Given the description of an element on the screen output the (x, y) to click on. 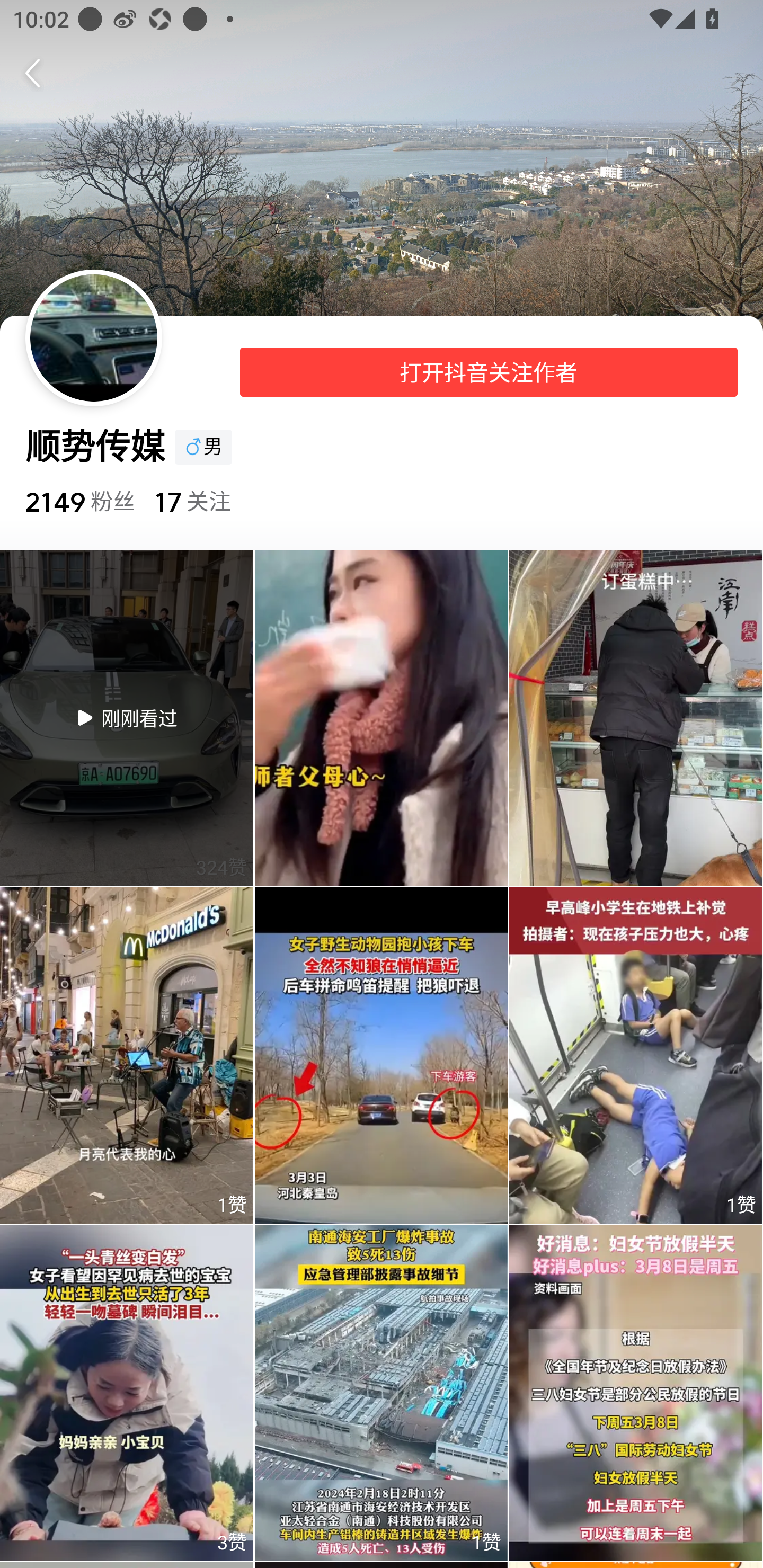
返回 (39, 72)
头像 (93, 337)
打开抖音关注作者 (488, 372)
2149 粉丝 (80, 501)
17 关注 (192, 501)
